Given the description of an element on the screen output the (x, y) to click on. 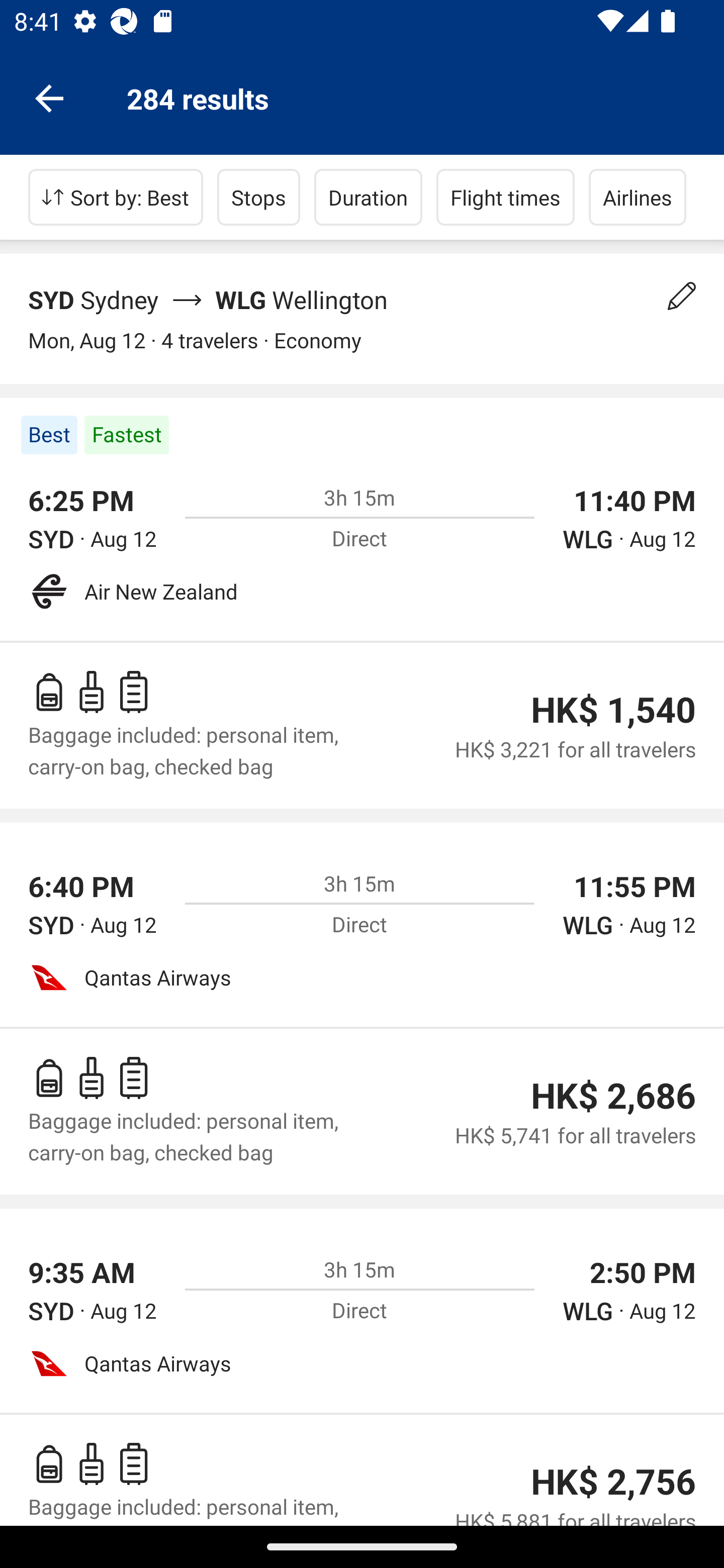
Navigate up (49, 97)
Sort by: Best (115, 197)
Stops (258, 197)
Duration (368, 197)
Flight times (505, 197)
Airlines (637, 197)
Change your search details (681, 296)
HK$ 1,540 (612, 710)
HK$ 2,686 (612, 1095)
HK$ 2,756 (612, 1481)
